Given the description of an element on the screen output the (x, y) to click on. 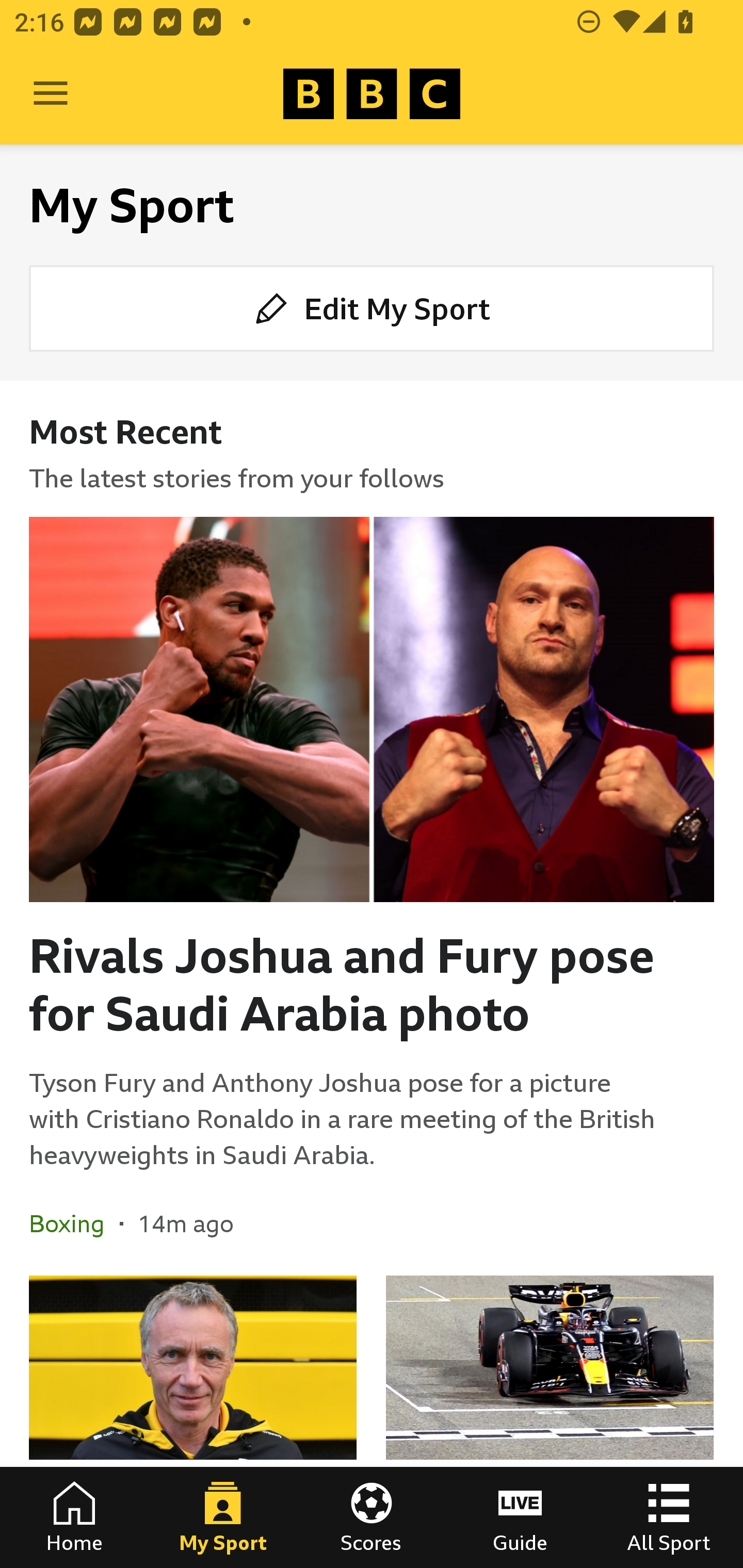
Open Menu (50, 93)
Edit My Sport (371, 307)
Engineer Bell leaves struggling Alpine (192, 1421)
Home (74, 1517)
Scores (371, 1517)
Guide (519, 1517)
All Sport (668, 1517)
